Given the description of an element on the screen output the (x, y) to click on. 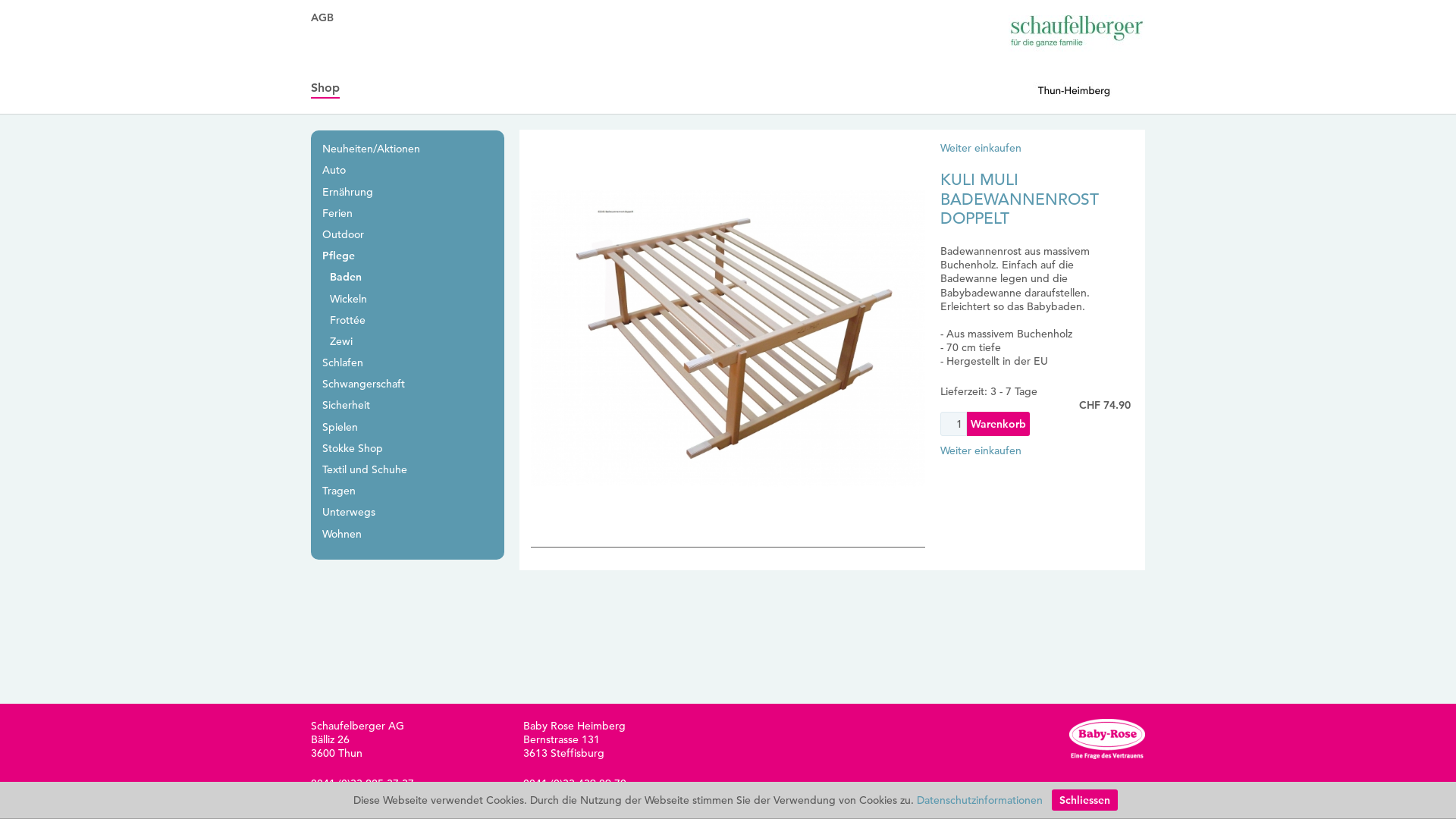
Shop Element type: text (324, 88)
Schlafen Element type: text (342, 362)
Wickeln Element type: text (348, 297)
Warenkorb Element type: text (997, 423)
Tragen Element type: text (338, 490)
Neuheiten/Aktionen Element type: text (371, 148)
Textil und Schuhe Element type: text (364, 469)
Datenschutzinformationen Element type: text (979, 799)
Wohnen Element type: text (341, 533)
Zur Startseite Element type: hover (1076, 56)
Outdoor Element type: text (343, 234)
Pflege Element type: text (338, 255)
Auto Element type: text (333, 169)
Sicherheit Element type: text (346, 404)
Weiter einkaufen Element type: text (980, 450)
Zewi Element type: text (340, 341)
Schwangerschaft Element type: text (363, 383)
AGB Element type: text (321, 17)
Ferien Element type: text (337, 212)
Schliessen Element type: text (1084, 799)
Spielen Element type: text (339, 426)
Unterwegs Element type: text (348, 511)
Baby-Rose Genossenschaft Element type: hover (1107, 738)
Weiter einkaufen Element type: text (980, 147)
Baden Element type: text (345, 276)
Stokke Shop Element type: text (352, 448)
